Given the description of an element on the screen output the (x, y) to click on. 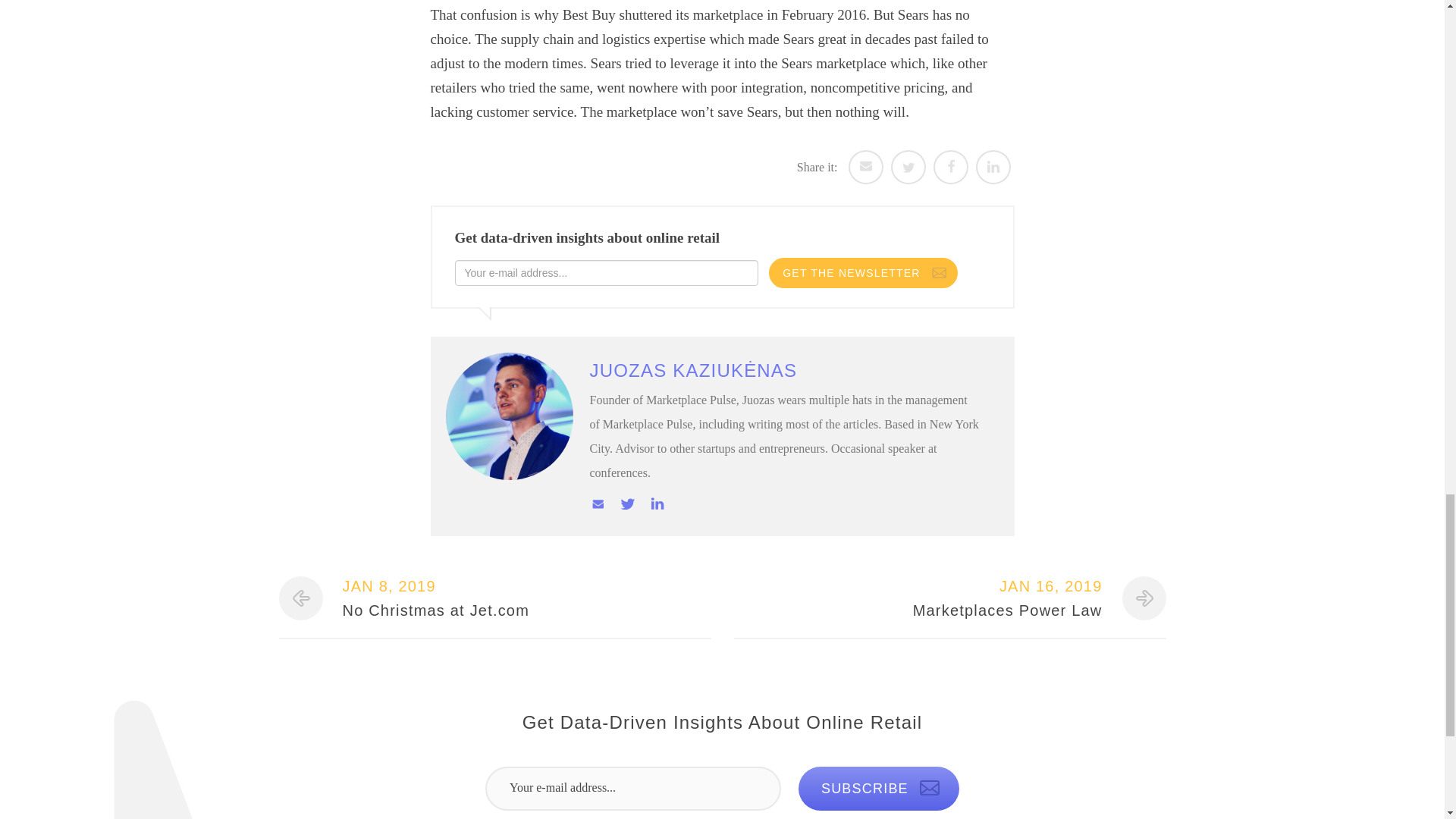
GET THE NEWSLETTER (862, 272)
SUBSCRIBE (944, 598)
